Given the description of an element on the screen output the (x, y) to click on. 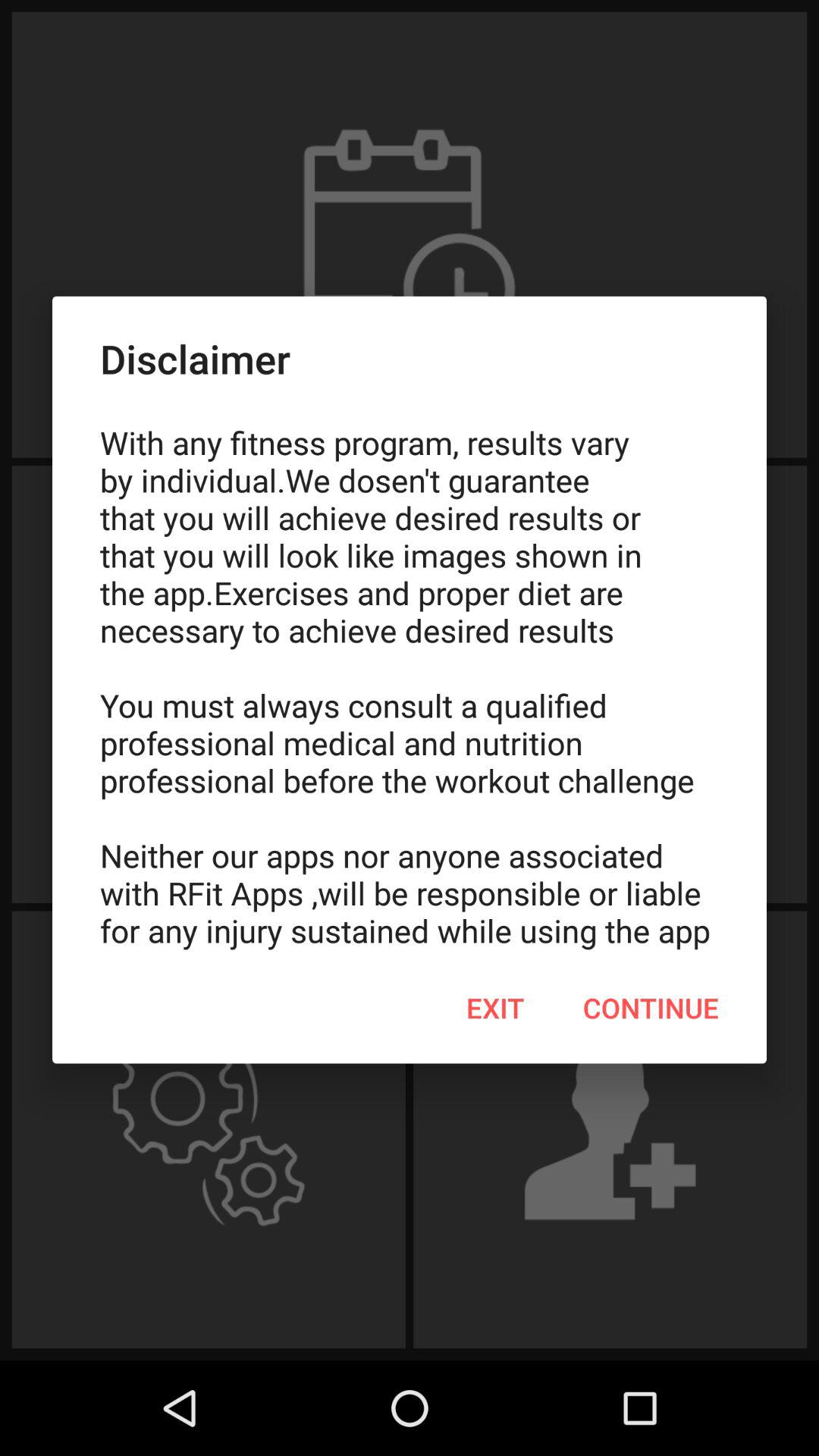
open continue at the bottom right corner (650, 1007)
